Given the description of an element on the screen output the (x, y) to click on. 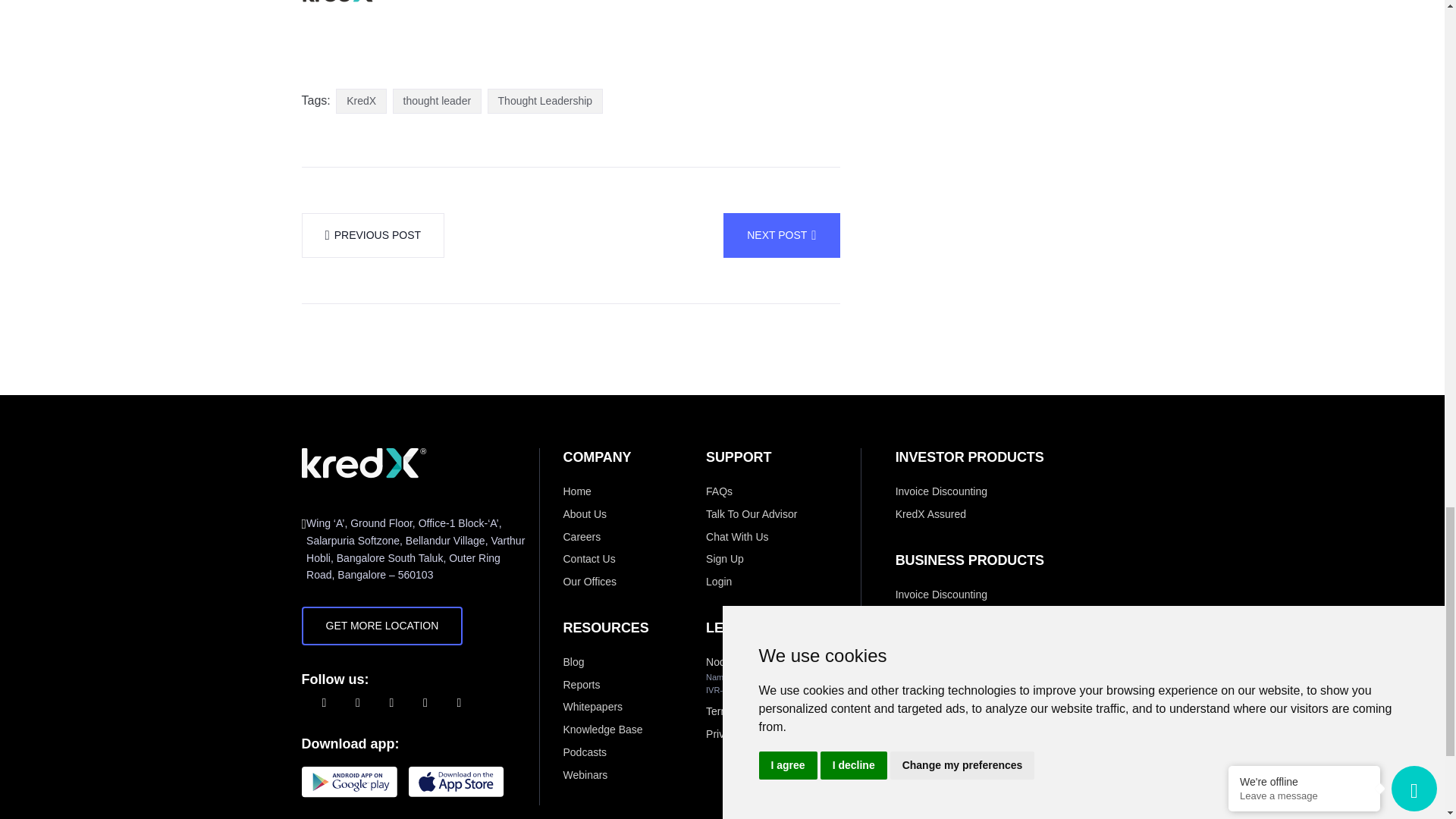
Posts by KredX Editorial Team (465, 3)
